Given the description of an element on the screen output the (x, y) to click on. 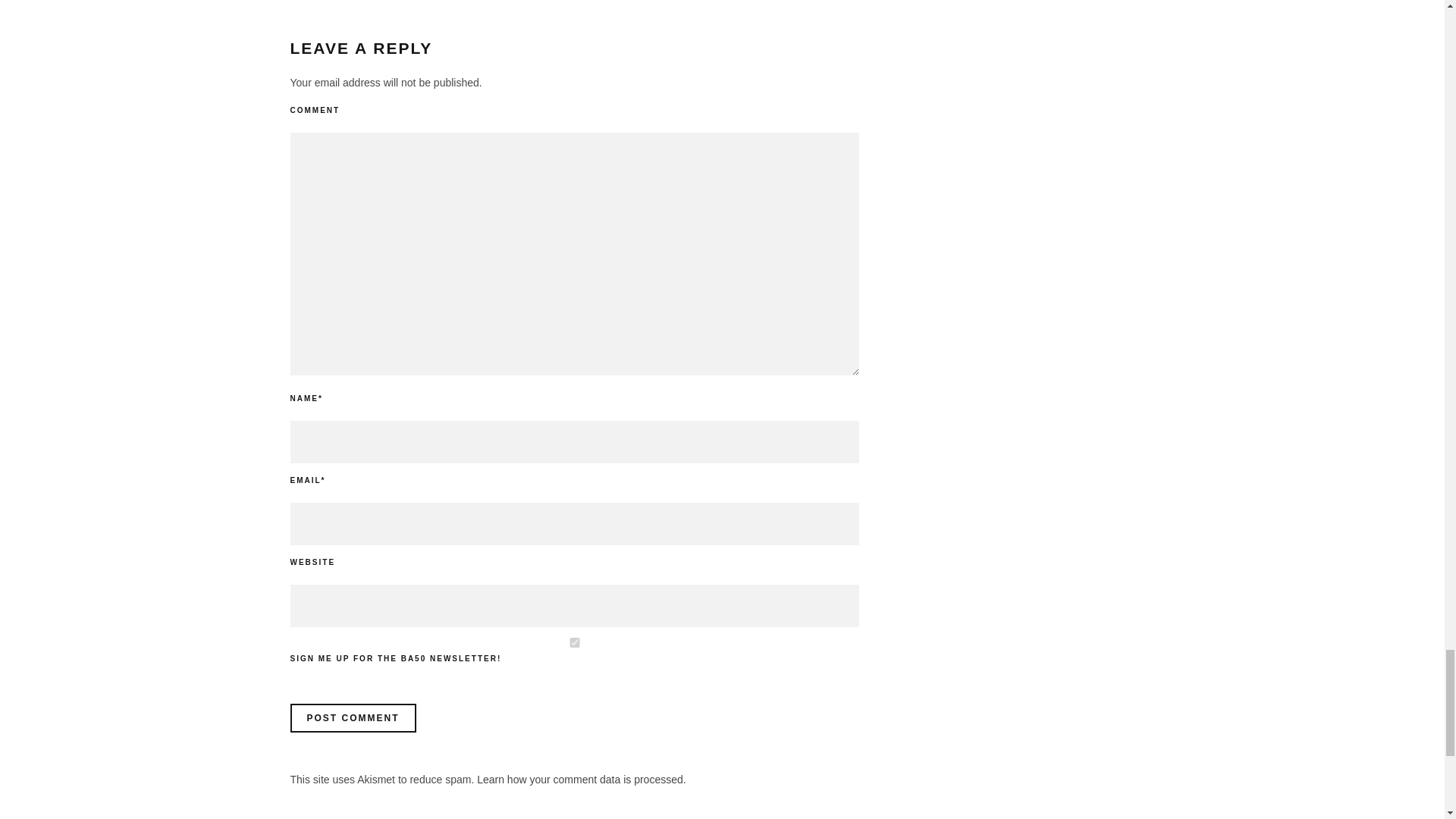
Post Comment (351, 717)
1 (574, 642)
